Given the description of an element on the screen output the (x, y) to click on. 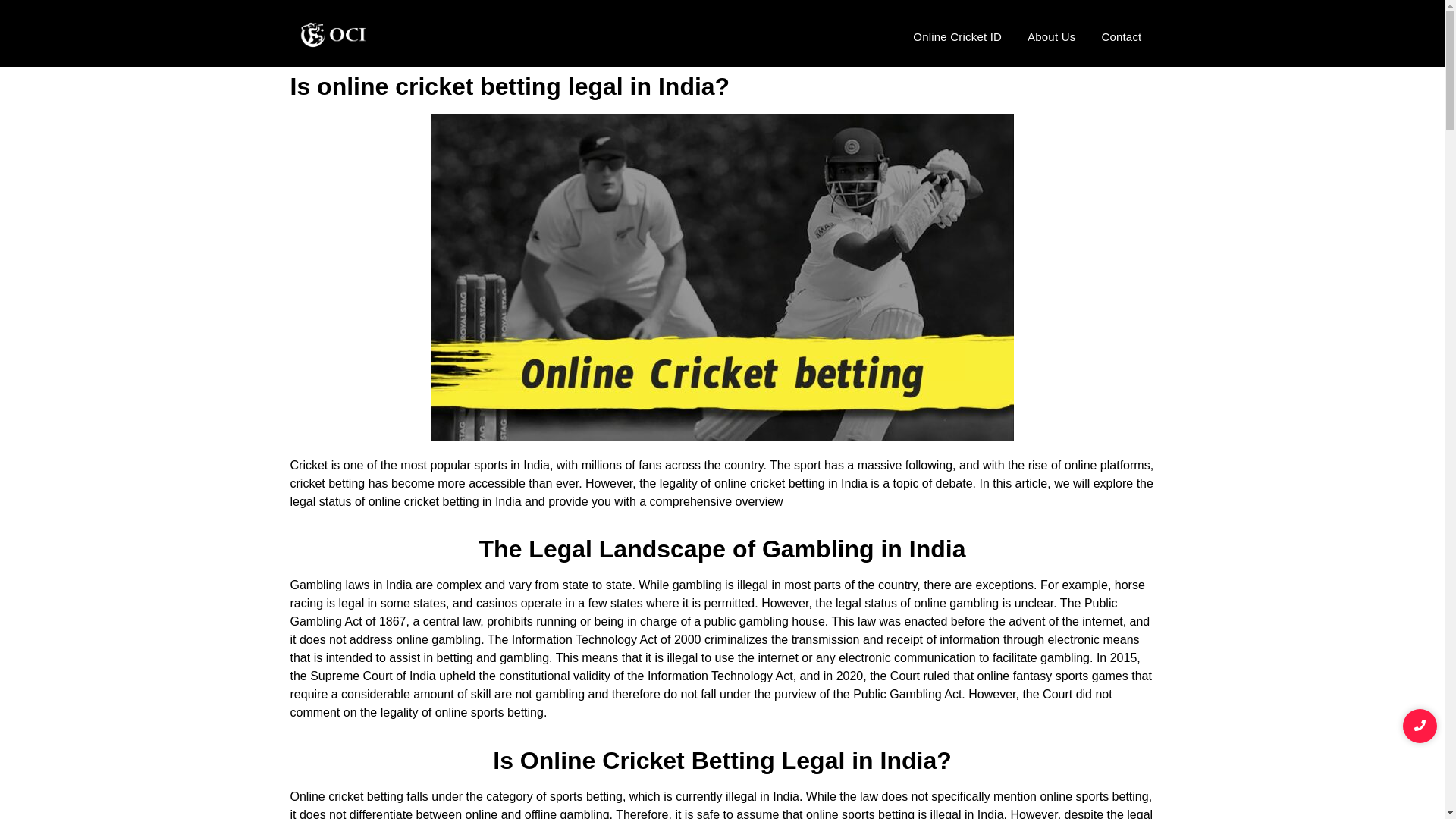
Online Cricket ID (957, 36)
About Us (1051, 36)
Contact (1121, 36)
